Given the description of an element on the screen output the (x, y) to click on. 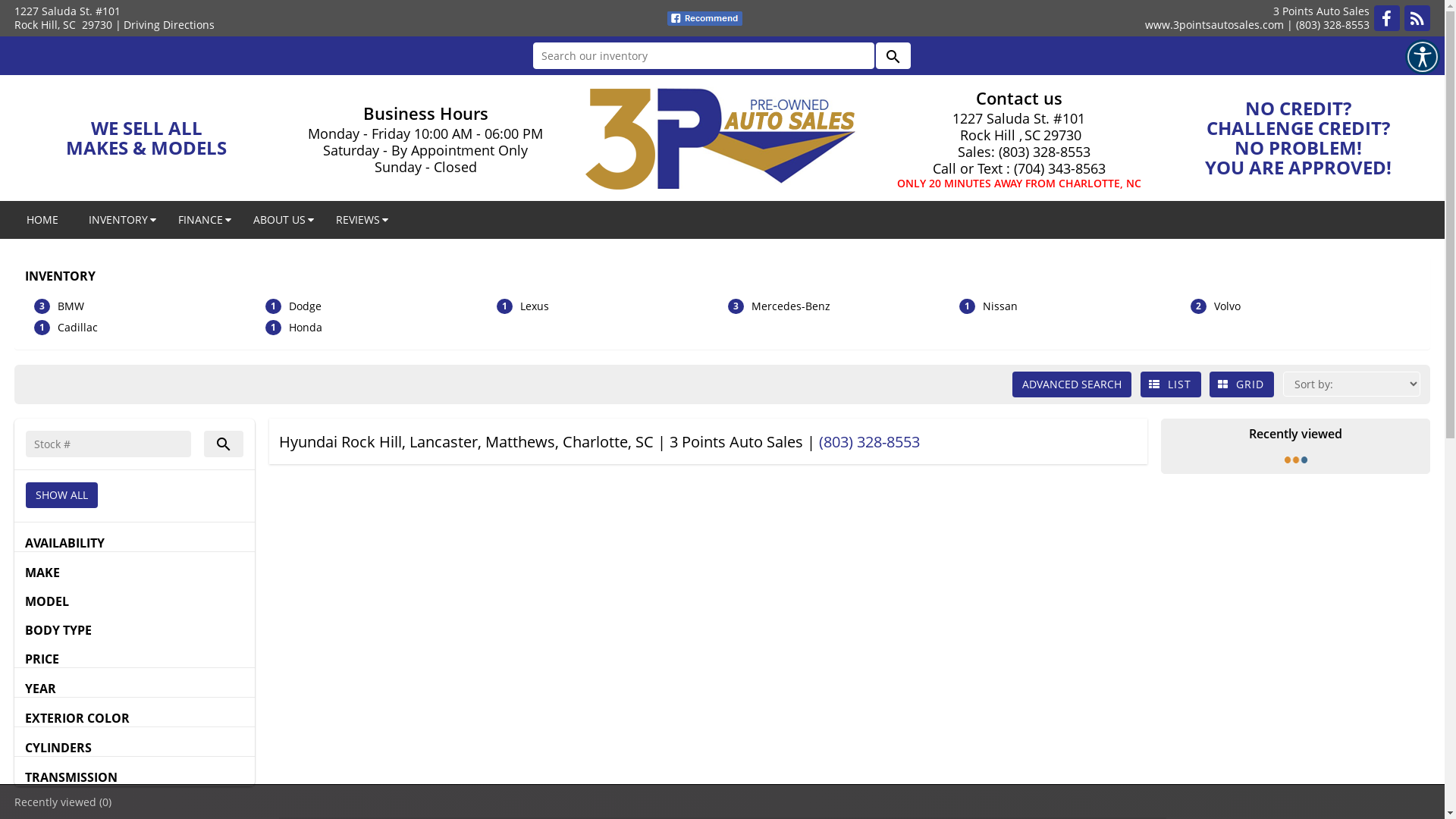
Search our inventory Element type: hover (702, 55)
search Element type: text (892, 55)
  Sales: (803) 328-8553 Element type: text (1019, 151)
search Element type: text (223, 443)
FINANCE Element type: text (200, 219)
NO CREDIT?
CHALLENGE CREDIT?
NO PROBLEM!
YOU ARE APPROVED! Element type: text (1297, 137)
INVENTORY Element type: text (118, 219)
GRID Element type: text (1241, 384)
(803) 328-8553 Element type: text (869, 441)
WE SELL ALL
MAKES & MODELS Element type: text (145, 137)
HOME Element type: text (42, 219)
LIST Element type: text (1170, 384)
Driving Directions Element type: text (168, 24)
REVIEWS Element type: text (357, 219)
ABOUT US Element type: text (279, 219)
www.3pointsautosales.com Element type: text (1214, 24)
(803) 328-8553 Element type: text (1332, 24)
ADVANCED SEARCH Element type: text (1071, 384)
SHOW ALL Element type: text (61, 495)
fb recommend Element type: hover (704, 18)
